Given the description of an element on the screen output the (x, y) to click on. 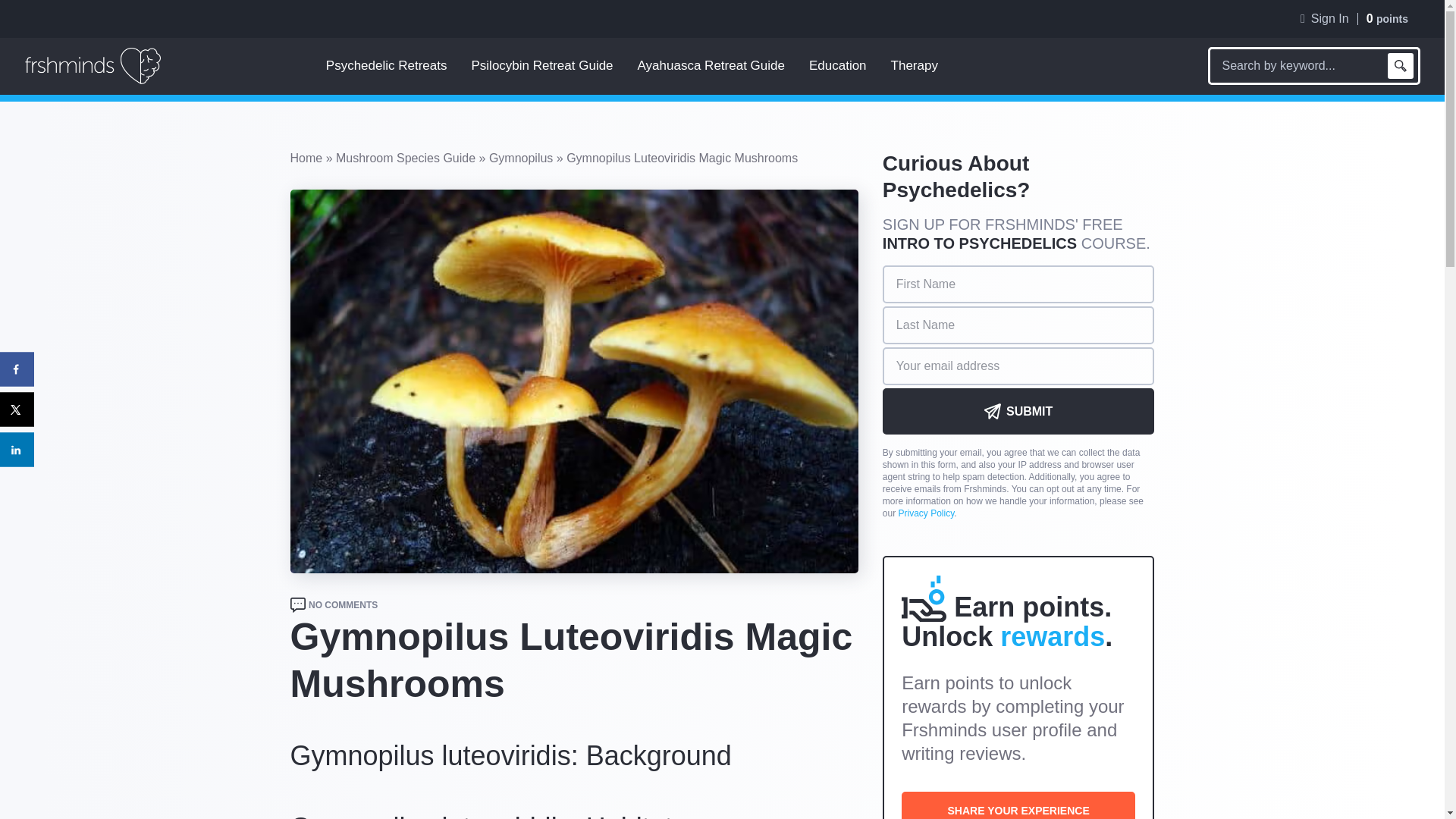
NO COMMENTS (342, 604)
Education (837, 65)
Sign In (1324, 19)
Share on Facebook (16, 368)
Gymnopilus (521, 157)
Search by keyword... (1296, 65)
Ayahuasca Retreat Guide (710, 65)
0 points (1387, 18)
Home (305, 157)
